Given the description of an element on the screen output the (x, y) to click on. 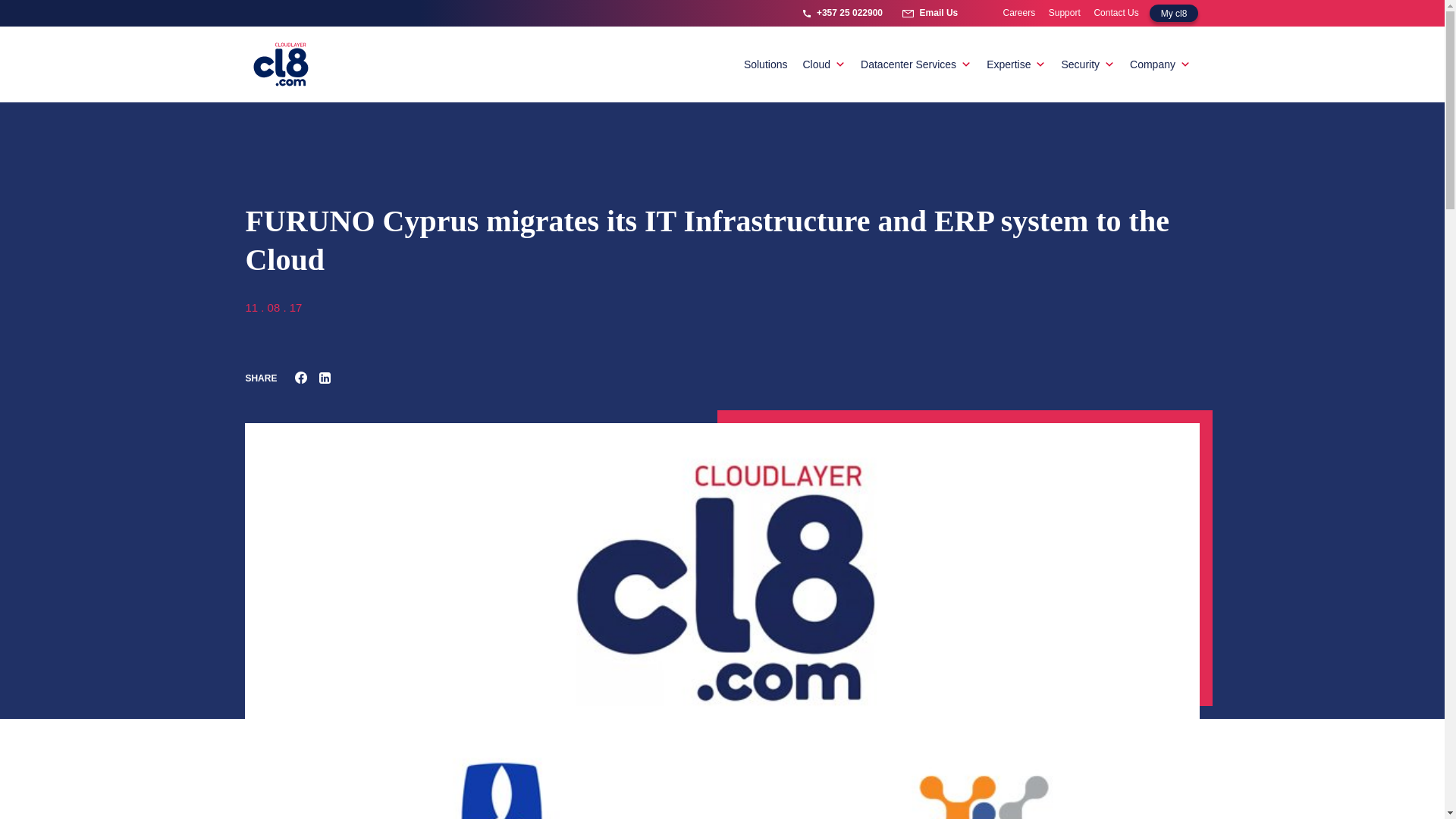
Contact Us (1115, 12)
Expertise (1015, 64)
Datacenter Services (915, 64)
Careers (1019, 12)
My cl8 (1174, 13)
Email Us (930, 13)
Support (1064, 12)
